Given the description of an element on the screen output the (x, y) to click on. 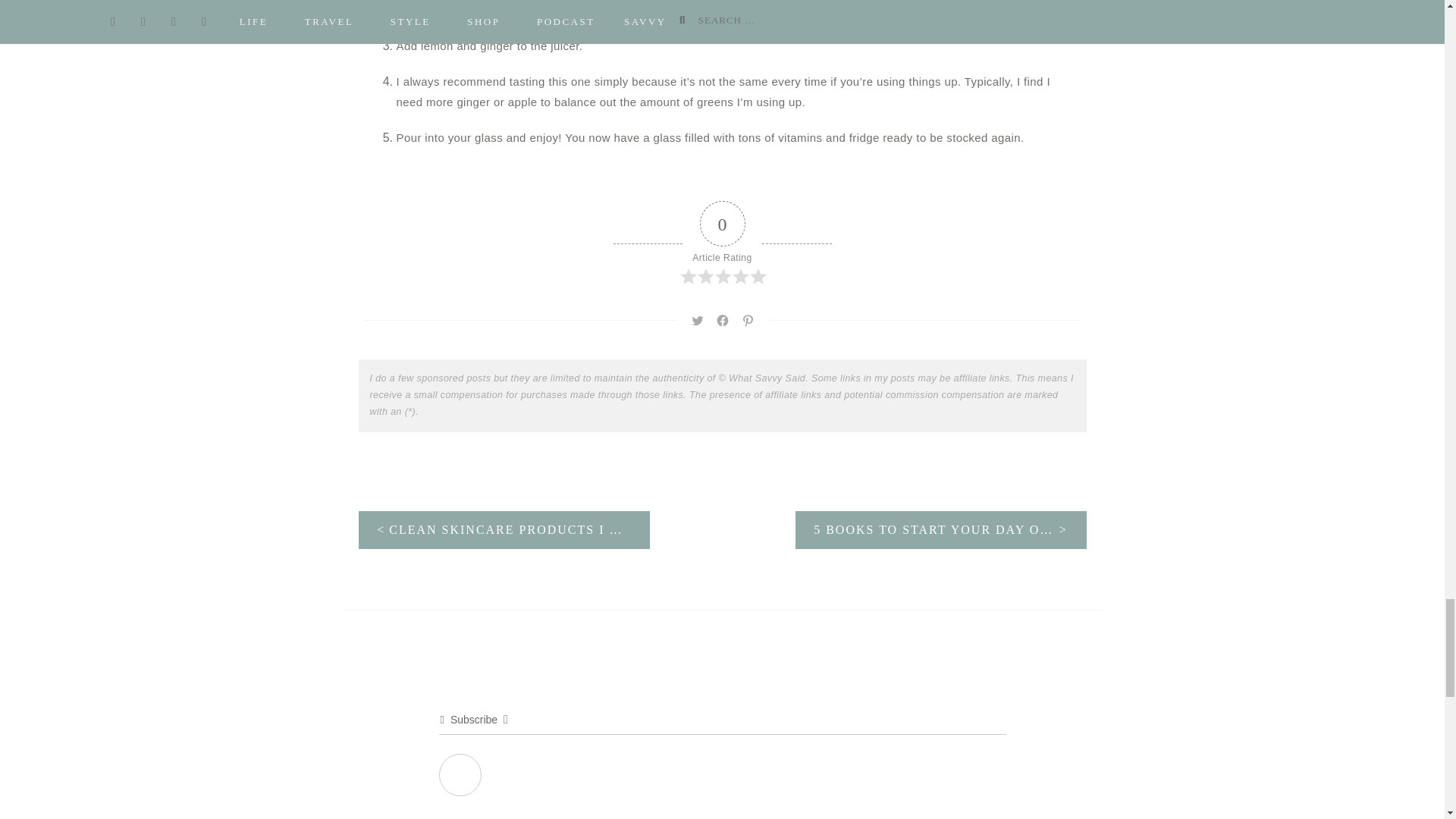
Click to share on Pinterest (747, 320)
Click to share on Twitter (697, 320)
5 BOOKS TO START YOUR DAY OFF RIGHT (940, 529)
Click to share on Facebook (721, 320)
